Given the description of an element on the screen output the (x, y) to click on. 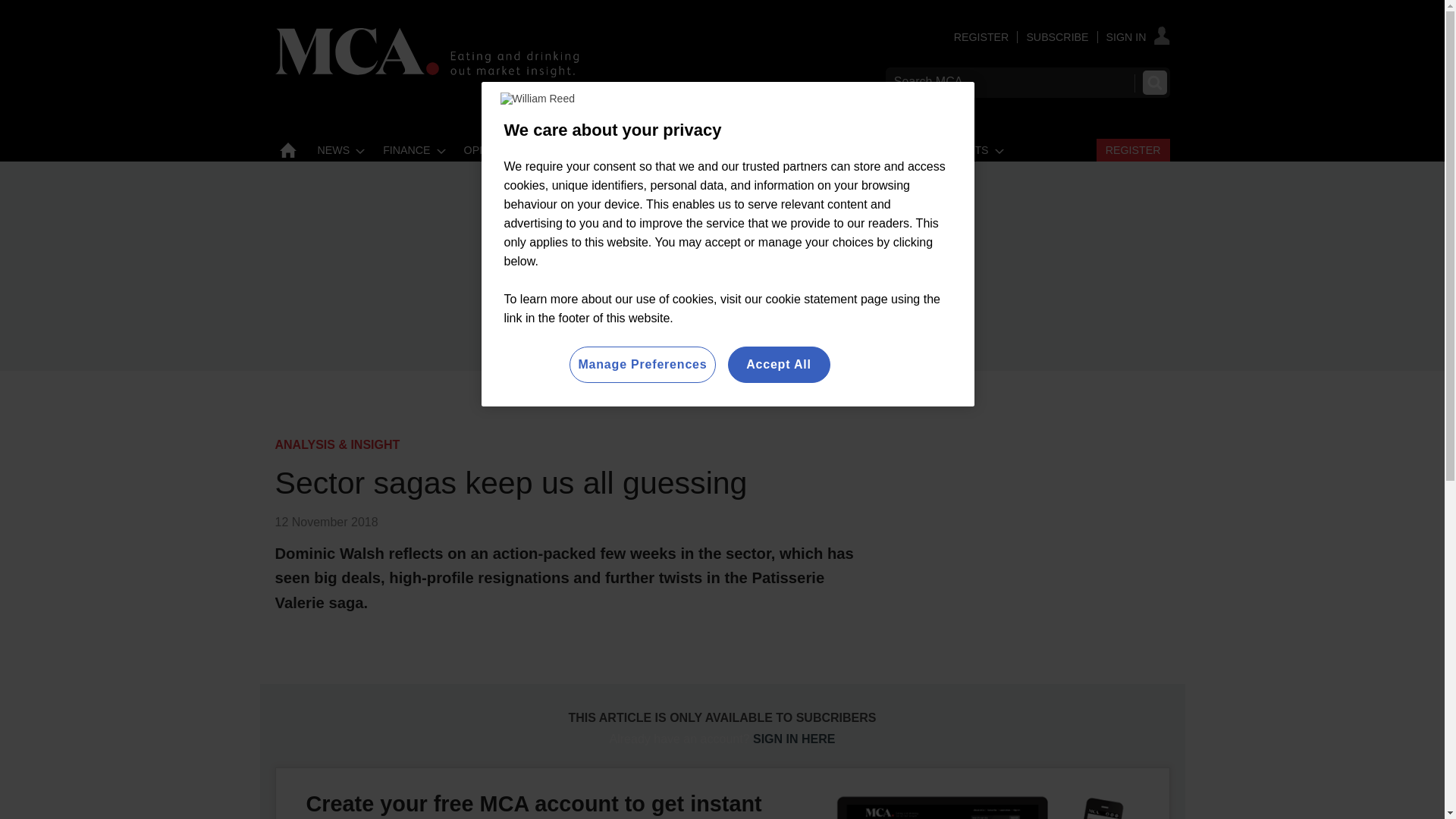
653110 (722, 703)
SIGN IN (1138, 37)
William Reed (537, 98)
Search (1153, 82)
Site name (426, 73)
REGISTER (981, 37)
SUBSCRIBE (1056, 37)
